Given the description of an element on the screen output the (x, y) to click on. 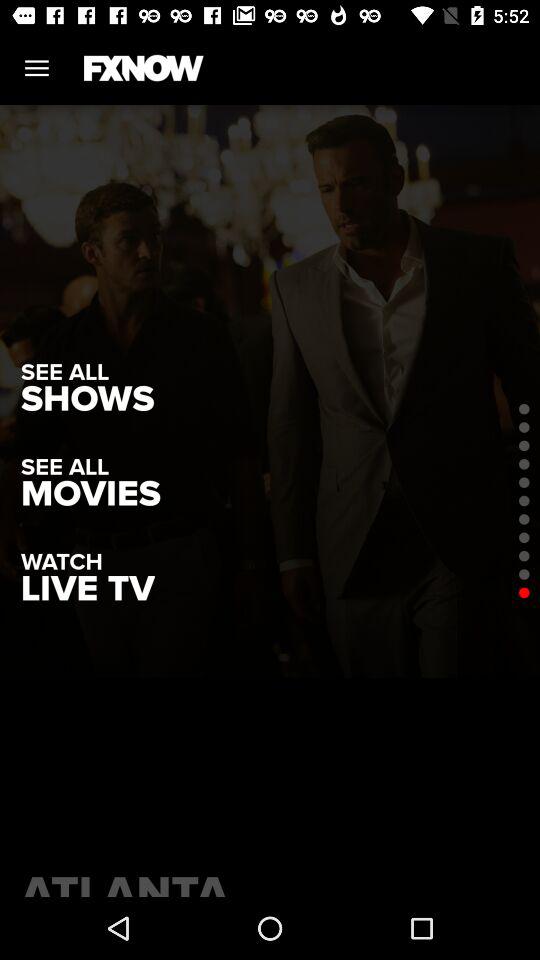
tap atlanta  item (270, 880)
